Given the description of an element on the screen output the (x, y) to click on. 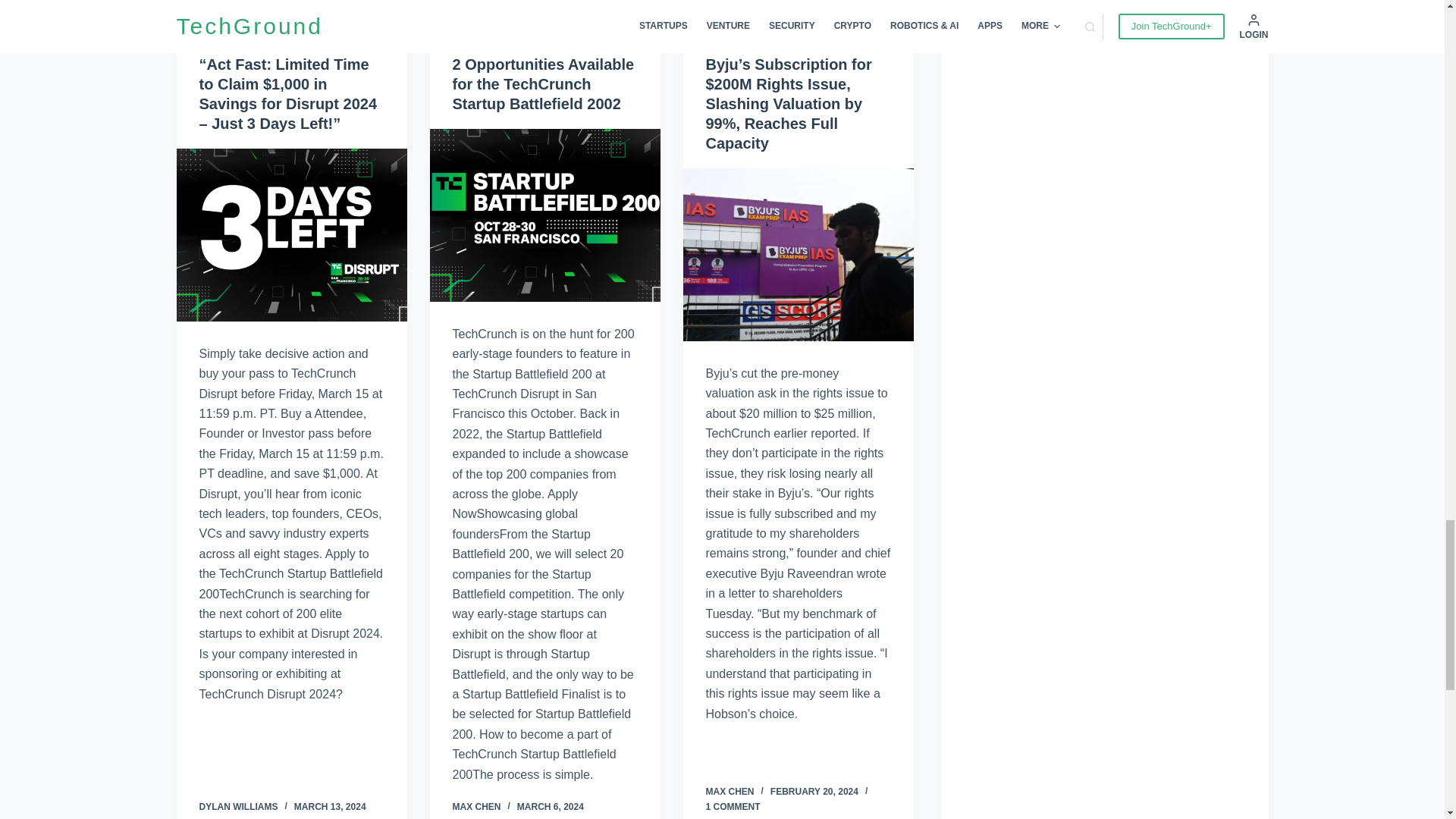
Posts by Max Chen (729, 791)
Posts by Max Chen (475, 806)
Posts by Dylan Williams (238, 806)
